Given the description of an element on the screen output the (x, y) to click on. 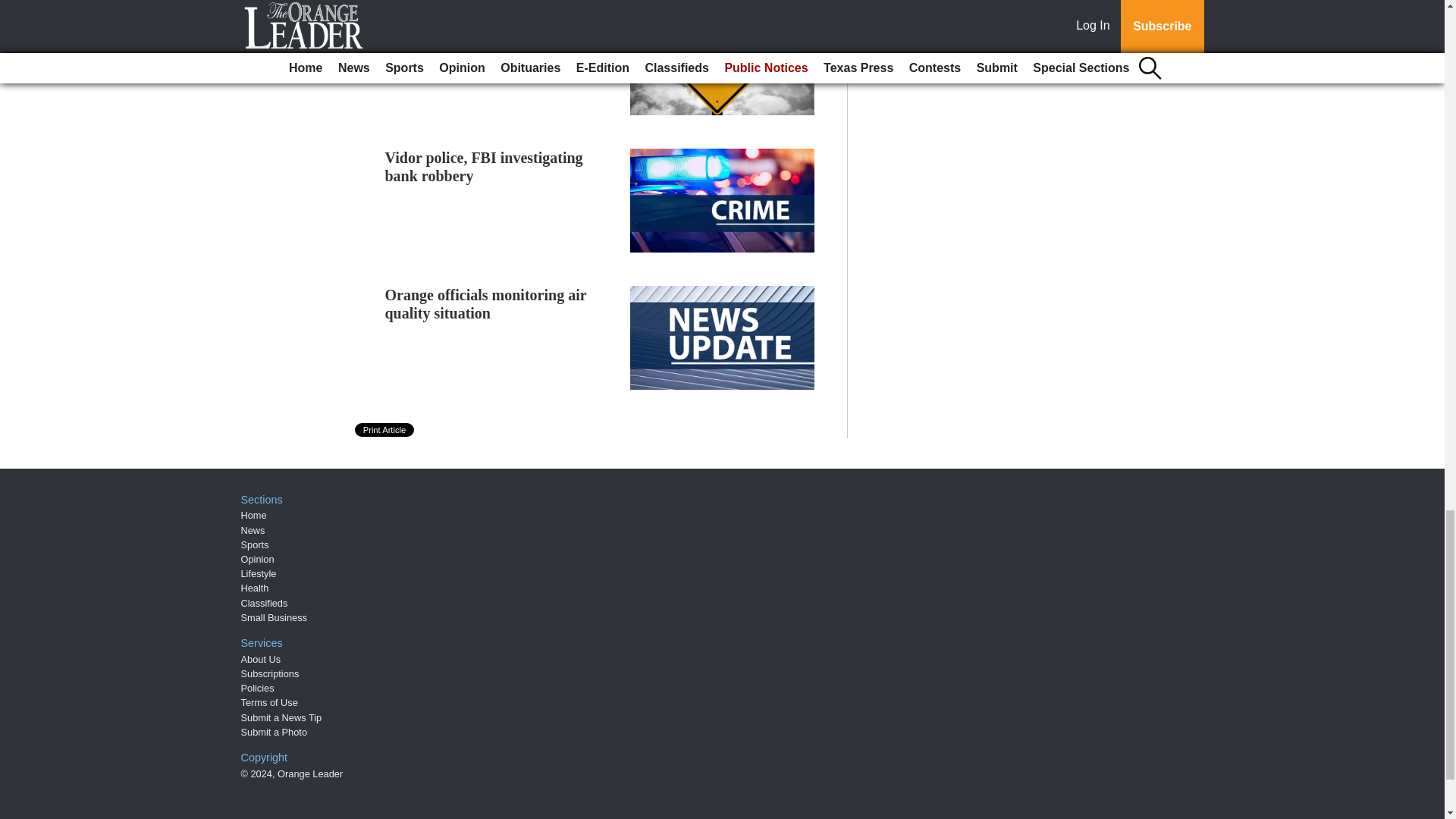
Vidor police, FBI investigating bank robbery (484, 166)
Print Article (384, 429)
Orange officials monitoring air quality situation (485, 303)
Orange officials monitoring air quality situation (485, 303)
Vidor police, FBI investigating bank robbery (484, 166)
